Given the description of an element on the screen output the (x, y) to click on. 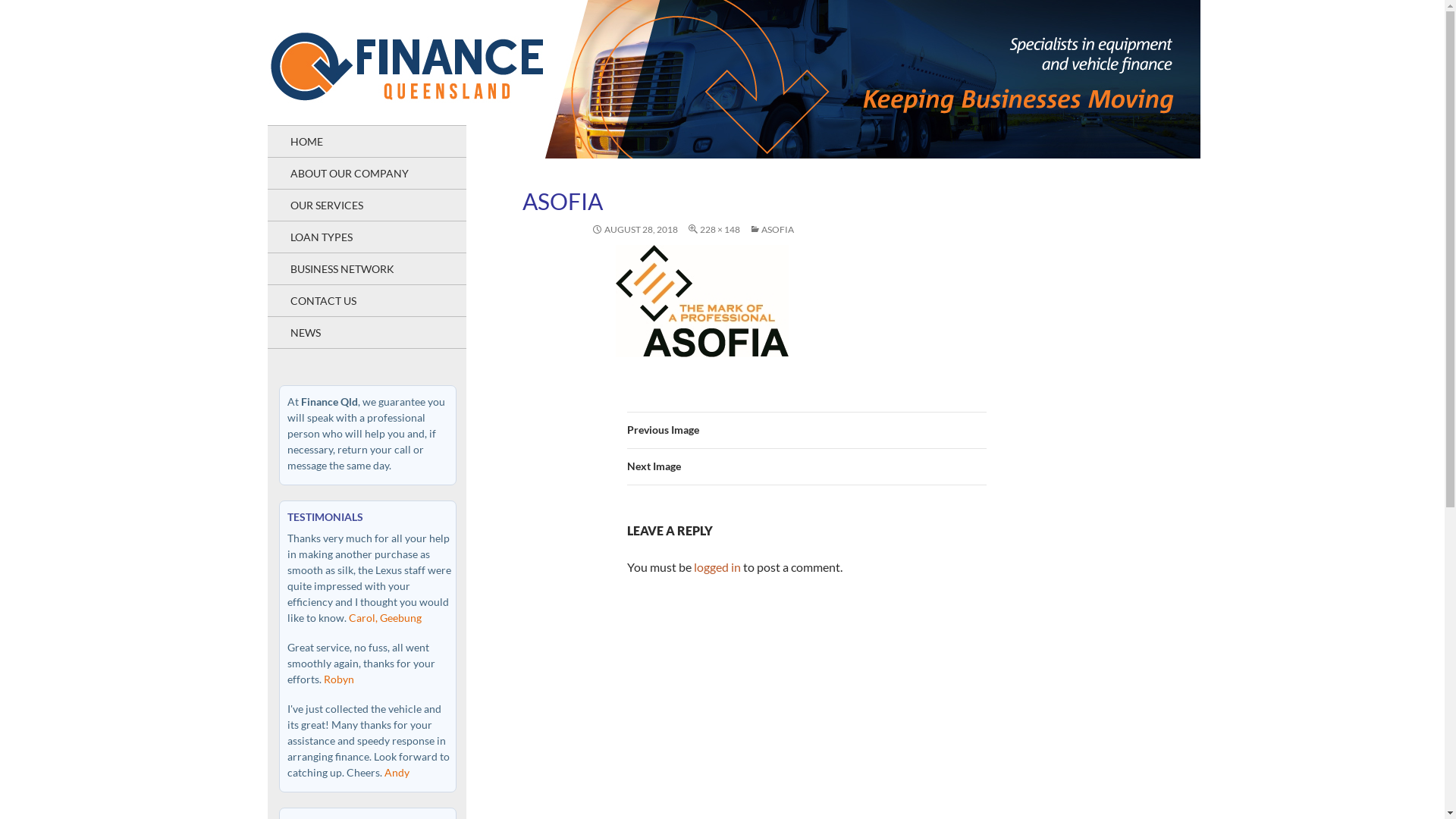
OUR SERVICES Element type: text (365, 204)
ABOUT OUR COMPANY Element type: text (365, 172)
LOAN TYPES Element type: text (365, 236)
Previous Image Element type: text (805, 430)
HOME Element type: text (365, 140)
BUSINESS NETWORK Element type: text (365, 268)
NEWS Element type: text (365, 332)
CONTACT US Element type: text (365, 300)
Next Image Element type: text (805, 466)
logged in Element type: text (716, 566)
Search Element type: text (29, 9)
ASOFIA Element type: text (771, 229)
